Given the description of an element on the screen output the (x, y) to click on. 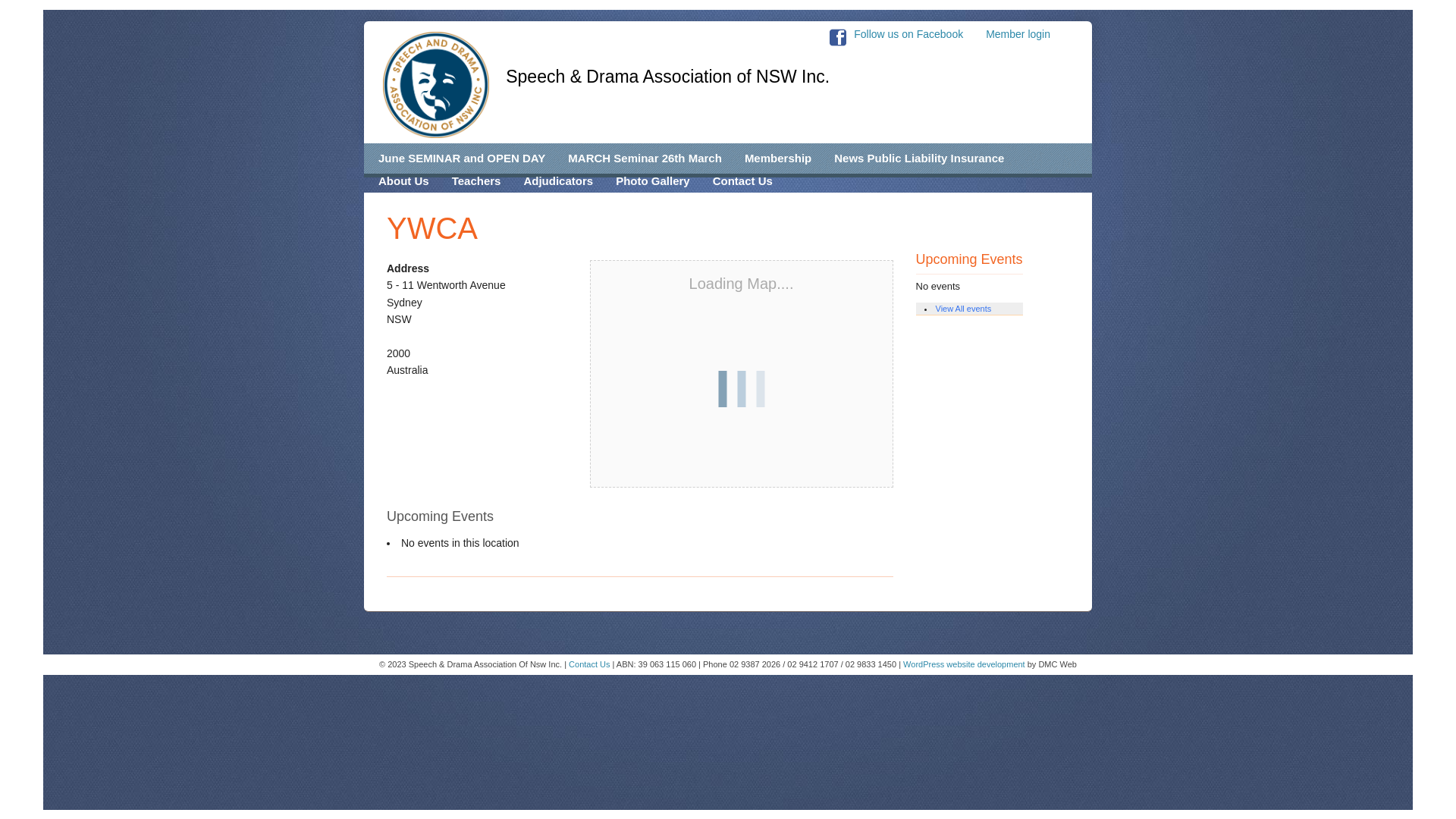
WordPress website development Element type: text (964, 663)
Contact Us Element type: text (588, 663)
June SEMINAR and OPEN DAY Element type: text (461, 158)
Speech & Drama Association Of Nsw Inc. Element type: hover (435, 84)
About Us Element type: text (403, 180)
News Public Liability Insurance Element type: text (918, 158)
View All events Element type: text (963, 308)
Adjudicators Element type: text (557, 180)
Contact Us Element type: text (742, 180)
Photo Gallery Element type: text (652, 180)
Follow us on Facebook Element type: text (907, 33)
Membership Element type: text (778, 158)
Member login Element type: text (1029, 30)
Teachers Element type: text (476, 180)
MARCH Seminar 26th March Element type: text (644, 158)
